Given the description of an element on the screen output the (x, y) to click on. 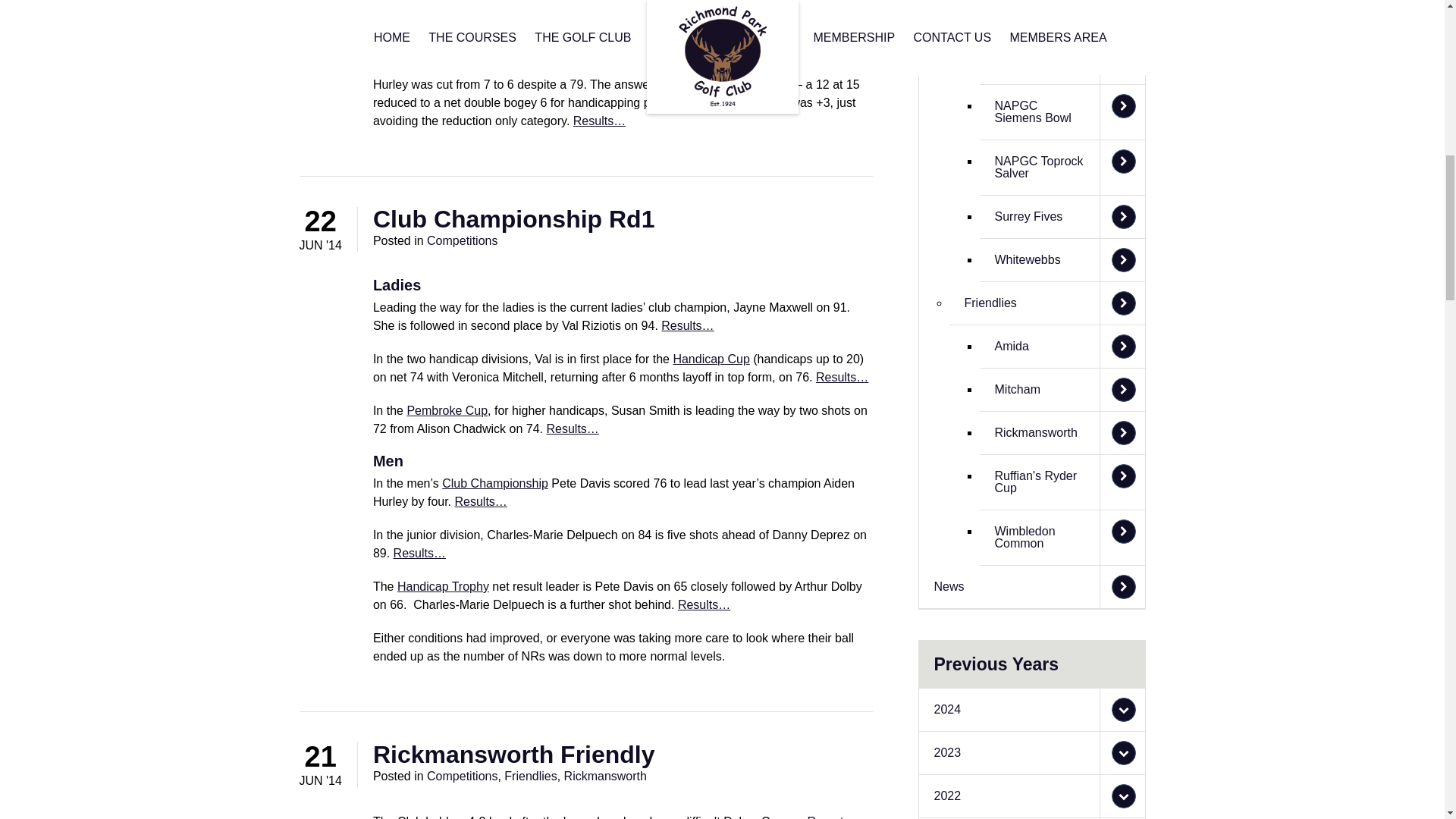
Competitions (461, 775)
Competitions (461, 240)
Handicap Cup (710, 358)
Pembroke Cup (446, 410)
Friendlies (529, 775)
Handicap Trophy (443, 585)
Rickmansworth (605, 775)
Club Championship (495, 482)
